Given the description of an element on the screen output the (x, y) to click on. 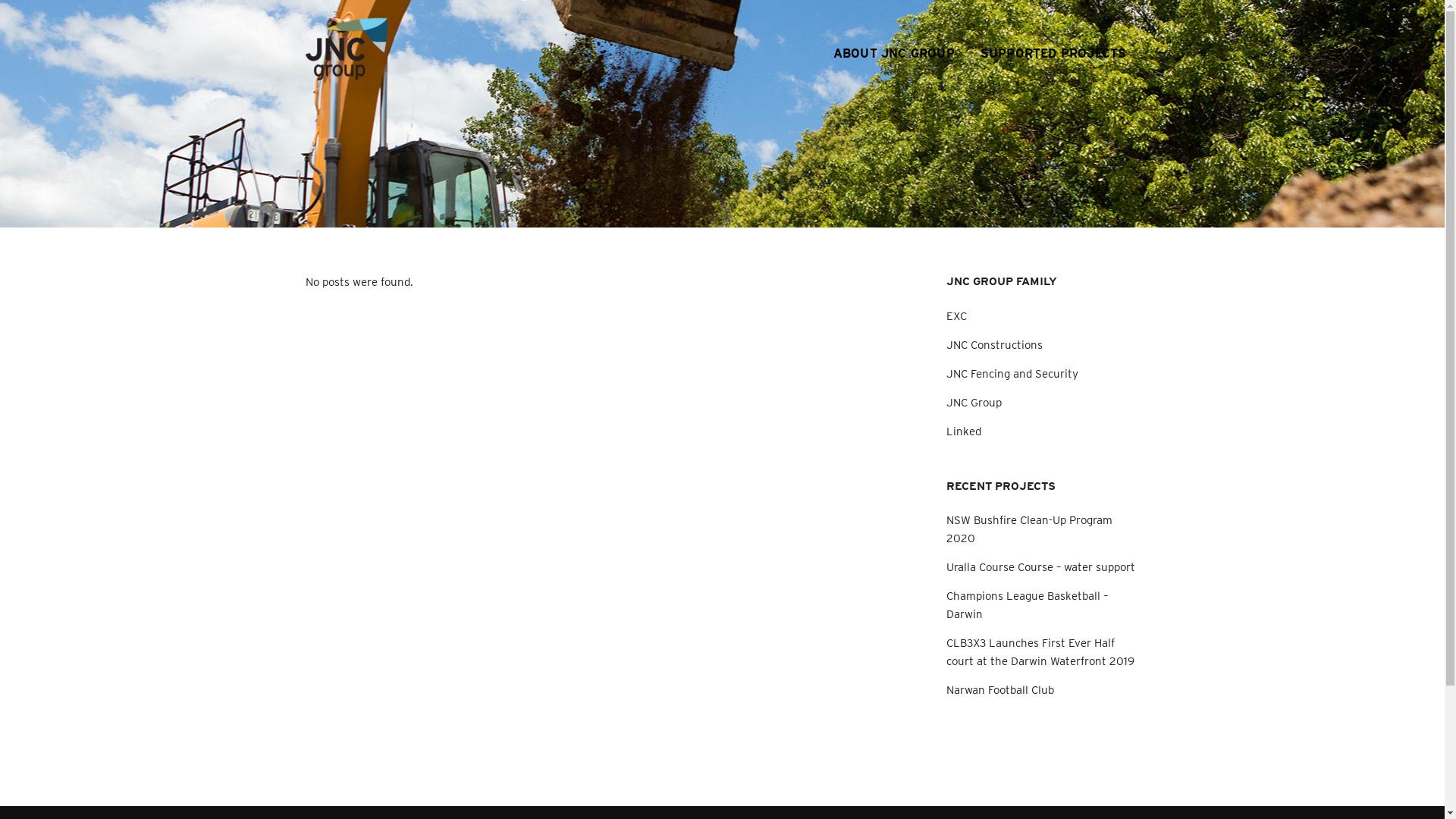
Narwan Football Club Element type: text (1000, 689)
JNC Constructions Element type: text (994, 344)
SUPPORTED PROJECTS Element type: text (1053, 31)
JNC Fencing and Security Element type: text (1012, 373)
NSW Bushfire Clean-Up Program 2020 Element type: text (1029, 529)
JNC Group Element type: text (973, 402)
ABOUT JNC GROUP Element type: text (893, 31)
Linked Element type: text (963, 431)
EXC Element type: text (956, 316)
